Given the description of an element on the screen output the (x, y) to click on. 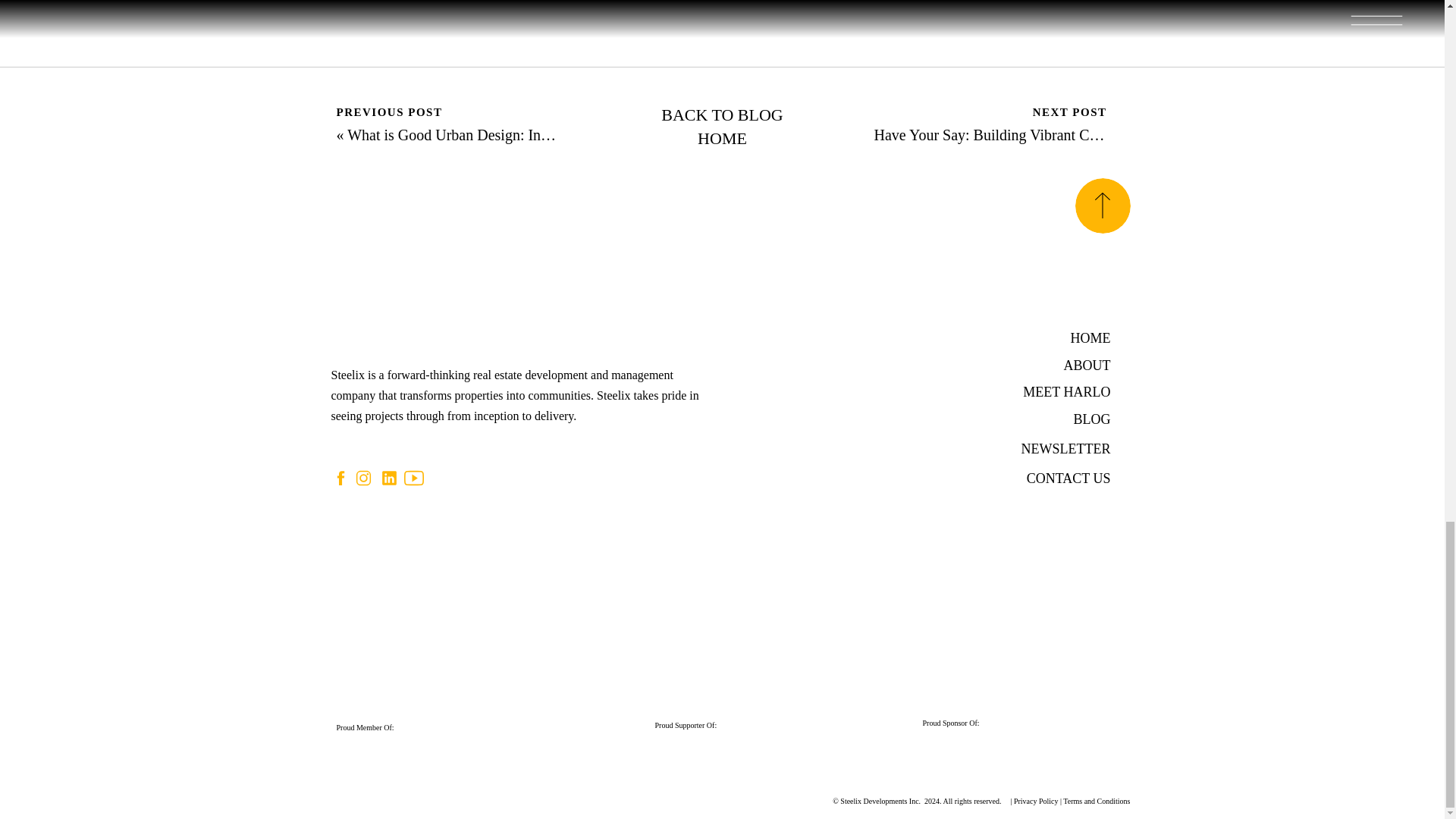
HOME (1078, 337)
MEET HARLO (1041, 391)
BLOG (1059, 418)
BACK TO BLOG HOME (722, 127)
CONTACT US (1051, 477)
Have Your Say: Building Vibrant Communities with Steelix Dev (1069, 134)
ABOUT (1063, 364)
